Given the description of an element on the screen output the (x, y) to click on. 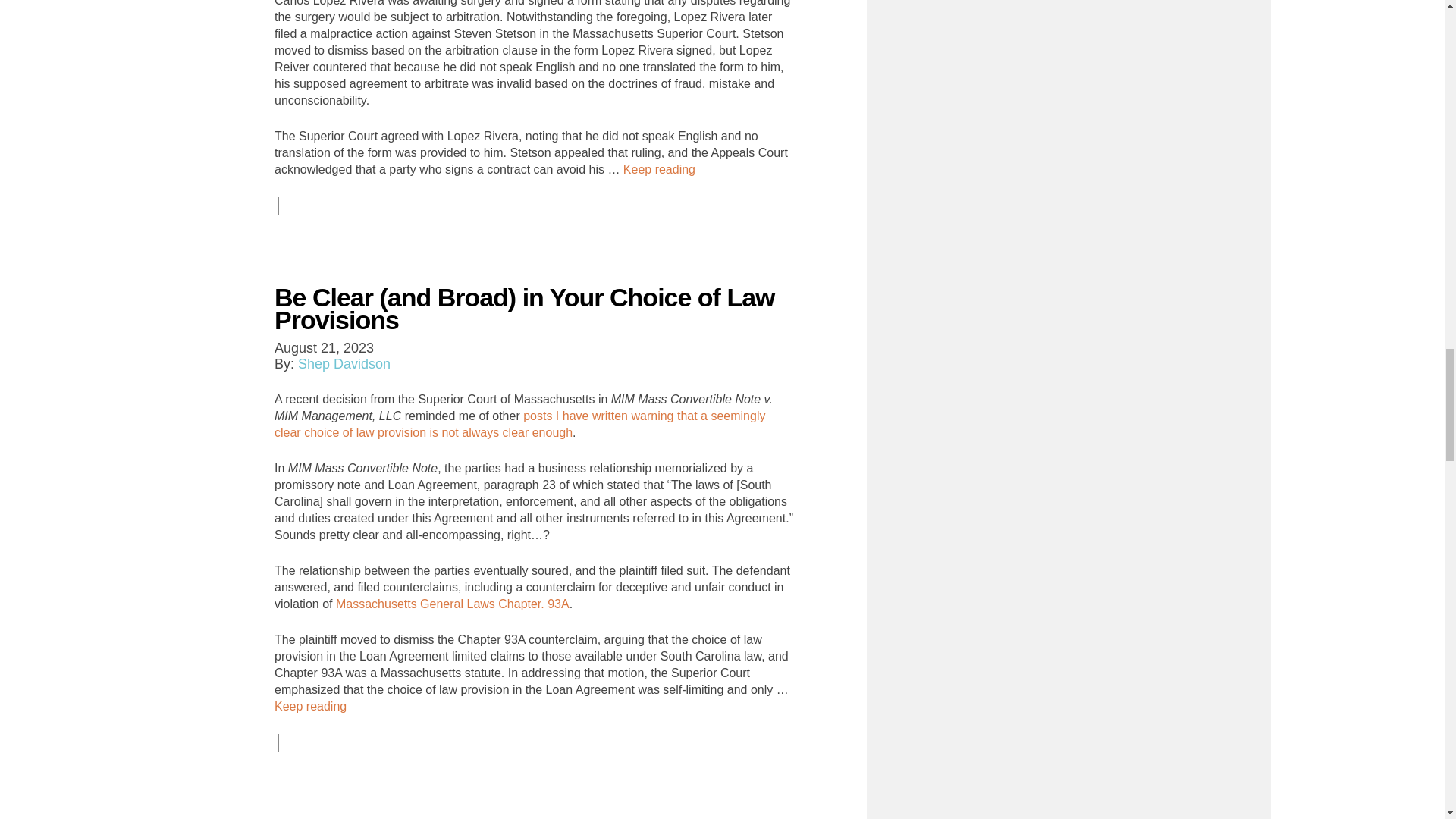
Shep Davidson (344, 363)
Monday, August 21, 2023, 2:32 pm (324, 347)
Keep reading (310, 707)
Shep Davidson (344, 363)
Keep reading (659, 169)
Massachusetts General Laws Chapter. 93A (452, 604)
